Given the description of an element on the screen output the (x, y) to click on. 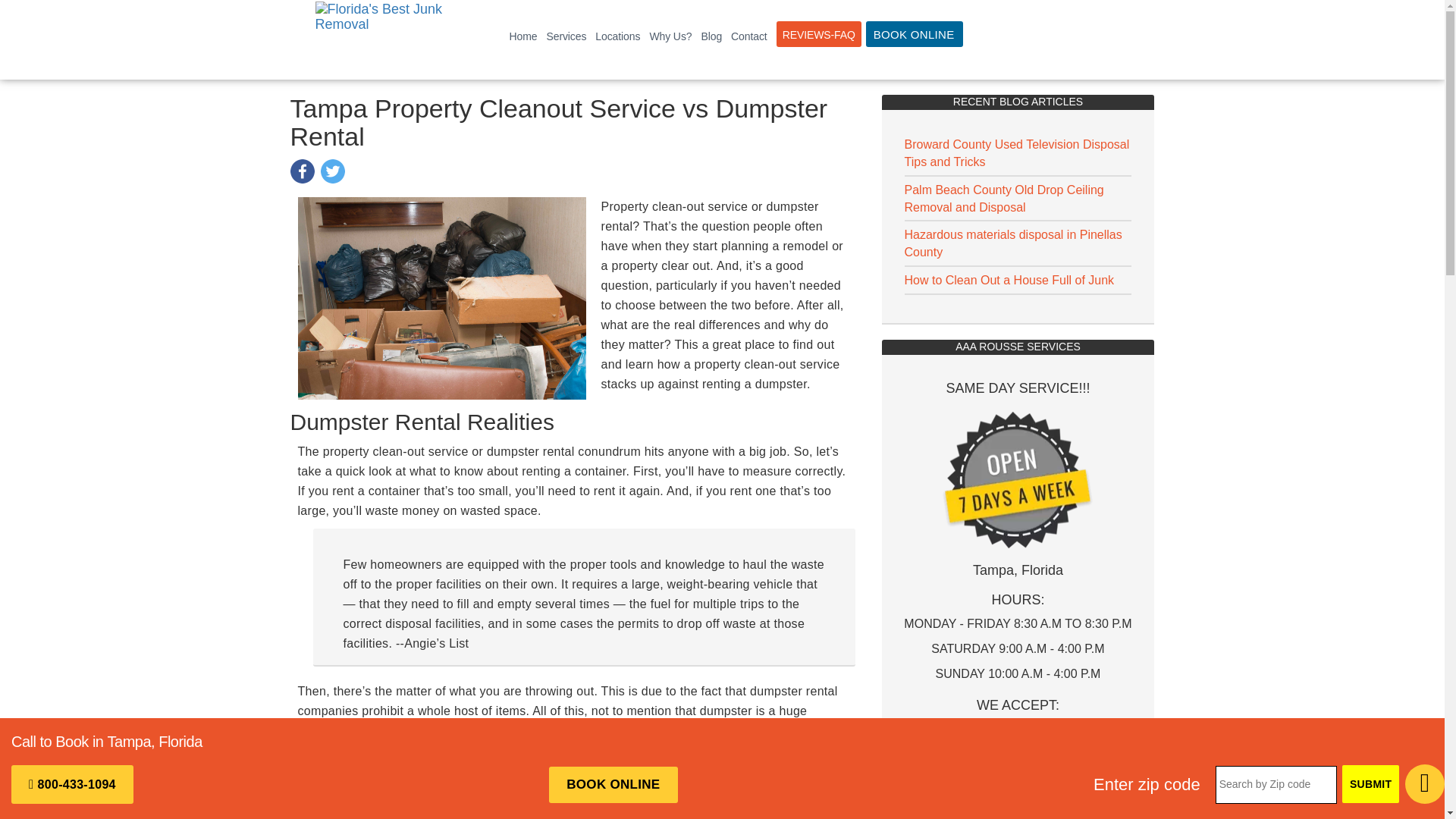
Locations (618, 36)
Blog (710, 36)
Services (566, 36)
Home (523, 36)
SUBMIT (1370, 783)
Broward County Used Television Disposal Tips and Tricks (1016, 153)
How to Clean Out a House Full of Junk (1008, 279)
BOOK ONLINE (914, 33)
Palm Beach County Old Drop Ceiling Removal and Disposal (1003, 198)
Hazardous materials disposal in Pinellas County (1012, 243)
